Given the description of an element on the screen output the (x, y) to click on. 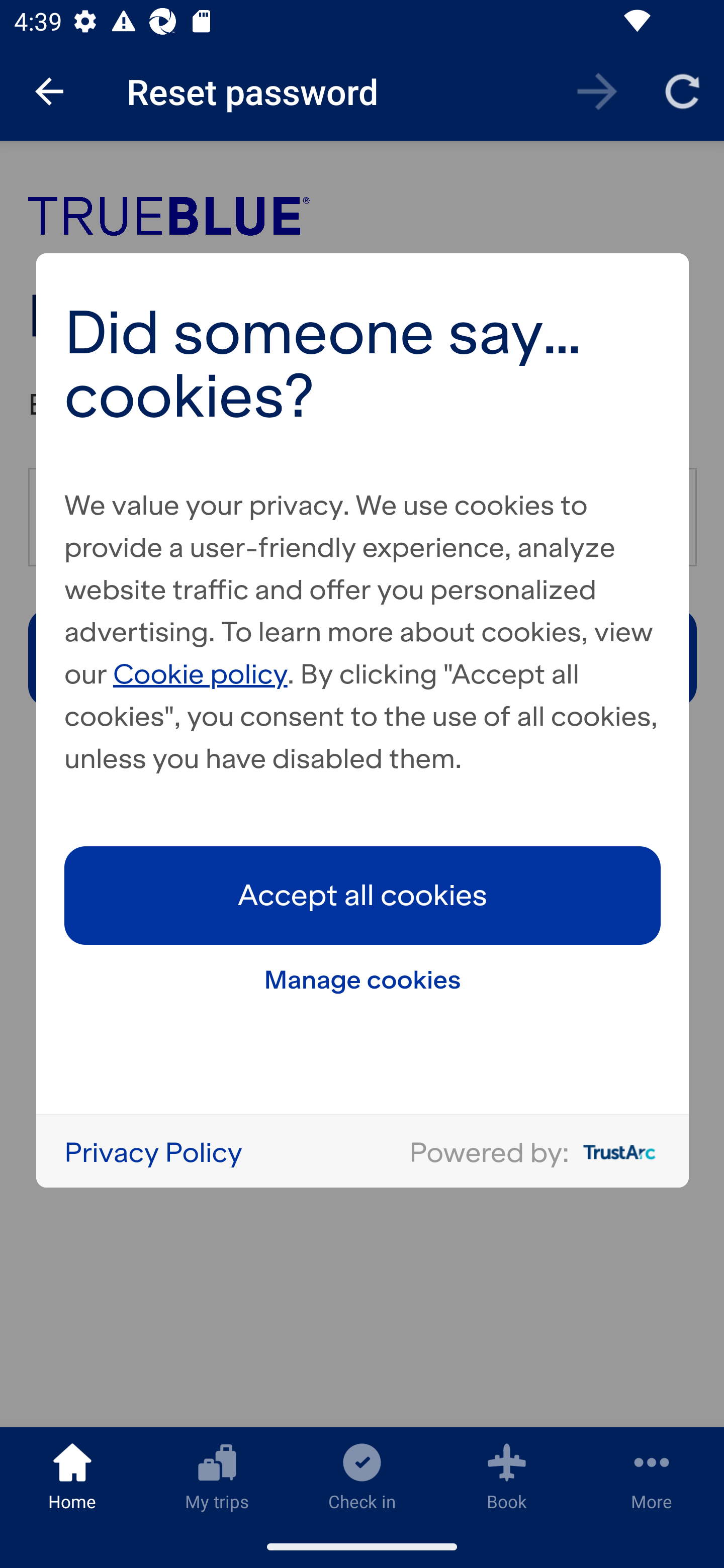
Navigate up (49, 91)
Forward (597, 90)
Reload (681, 90)
Cookie policy (200, 673)
Accept all cookies (362, 895)
Manage cookies (362, 979)
Privacy Policy (152, 1151)
Company logo for TrustArc (614, 1152)
My trips (216, 1475)
Check in (361, 1475)
Book (506, 1475)
More (651, 1475)
